Given the description of an element on the screen output the (x, y) to click on. 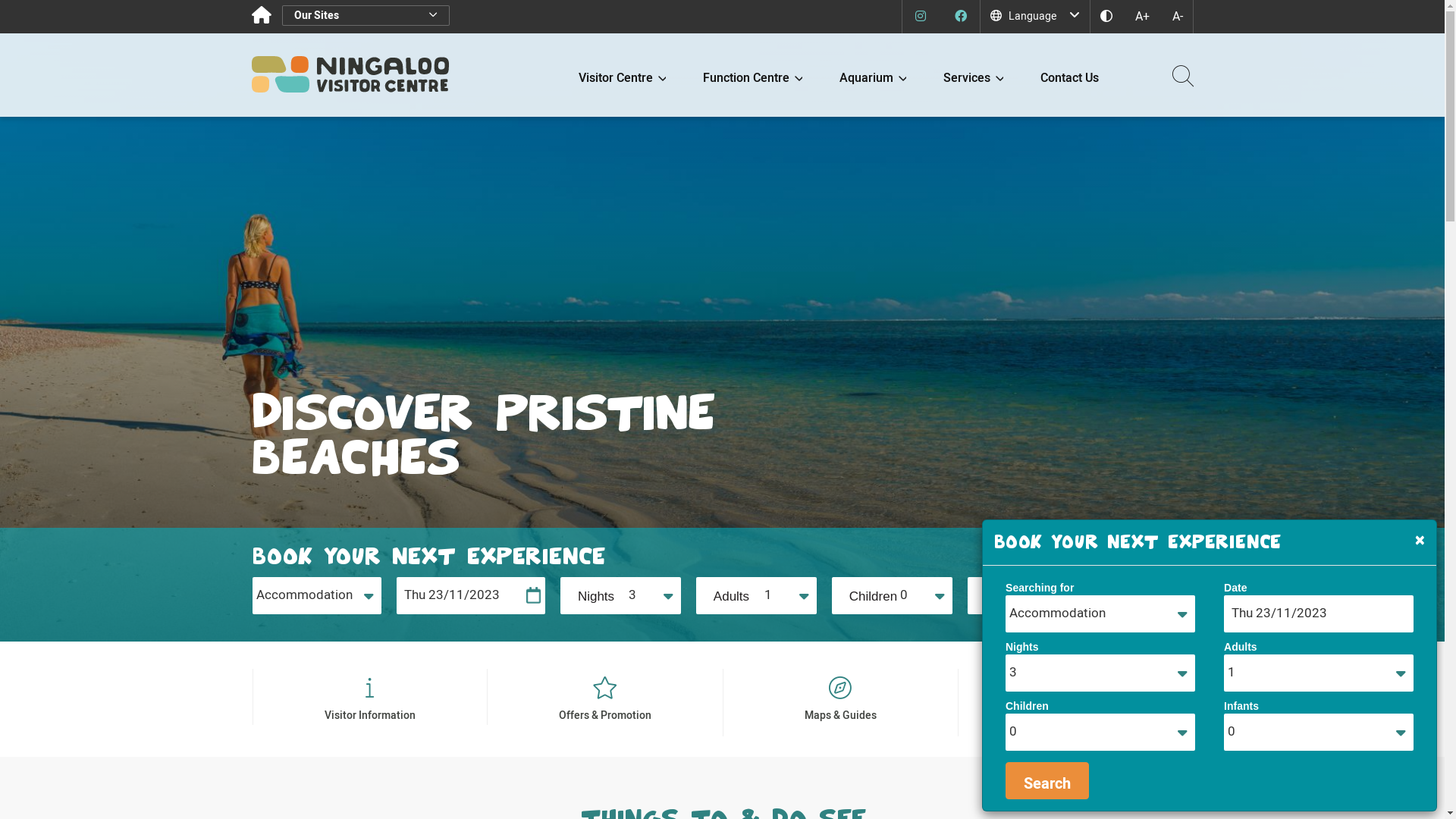
Contact Us Element type: text (1075, 702)
Search Element type: text (1147, 595)
Visitor Information Element type: text (369, 702)
View us on Instagram Element type: hover (920, 16)
Ningaloo Visitor Centre Element type: hover (349, 74)
Contact Us Element type: text (1069, 74)
Search Element type: hover (1160, 74)
Search Element type: text (1046, 780)
Language Element type: text (1033, 16)
Discover pristine beaches Element type: text (723, 320)
Go to the Ningaloo Centre home page Element type: hover (261, 15)
A+ Element type: text (1142, 16)
A- Element type: text (1176, 16)
View us on Facebook Element type: hover (960, 16)
Our Sites Element type: text (365, 15)
Maps & Guides Element type: text (840, 702)
Offers & Promotion Element type: text (605, 702)
Change Colour Contrast Element type: hover (1106, 16)
